Given the description of an element on the screen output the (x, y) to click on. 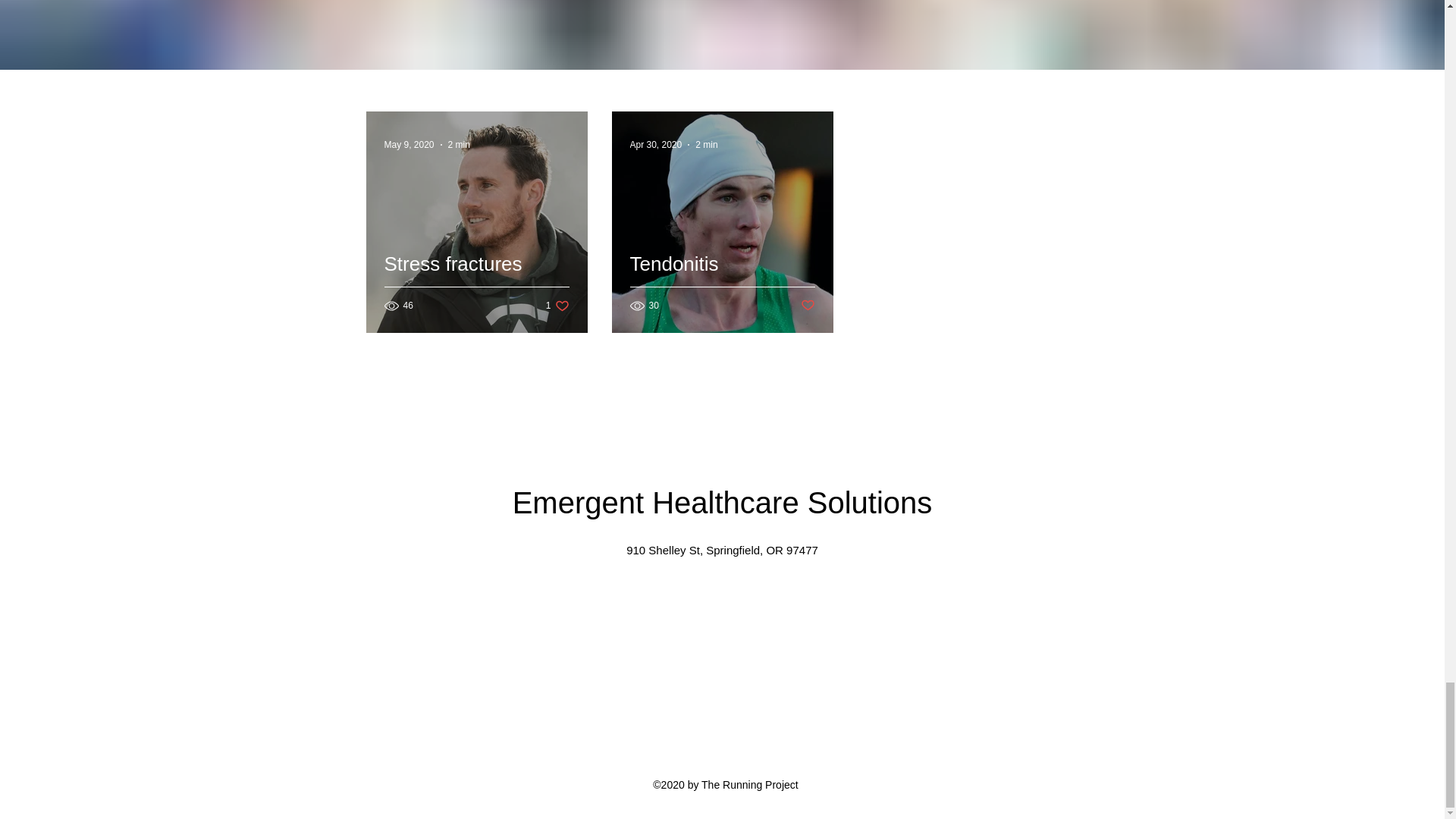
2 min (459, 144)
May 9, 2020 (557, 305)
Tendonitis (408, 144)
2 min (720, 281)
Stress fractures (706, 144)
Post not marked as liked (476, 281)
Apr 30, 2020 (807, 305)
